Given the description of an element on the screen output the (x, y) to click on. 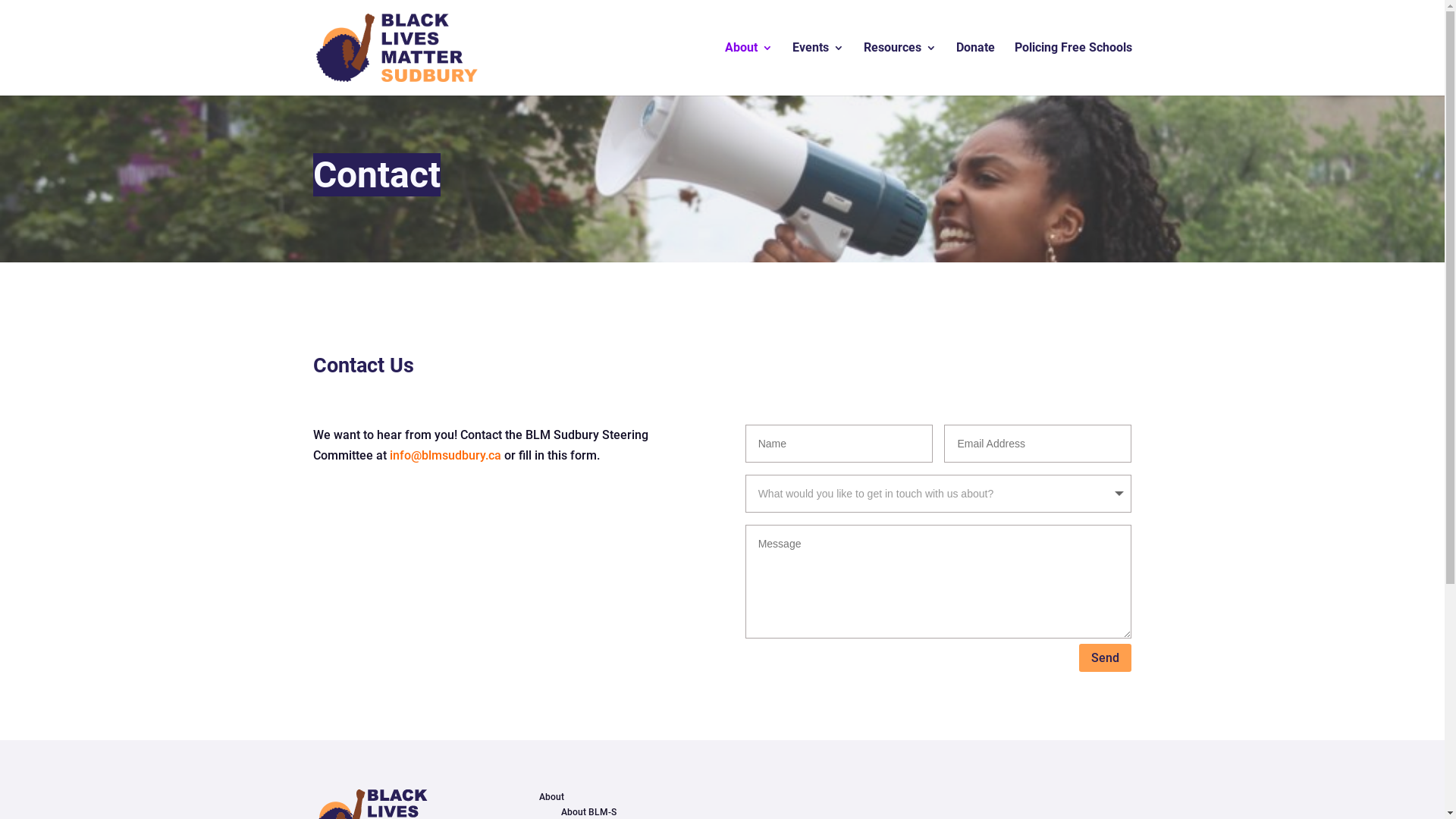
info@blmsudbury.ca Element type: text (445, 455)
Resources Element type: text (898, 68)
About Element type: text (551, 796)
Donate Element type: text (974, 68)
Policing Free Schools Element type: text (1073, 68)
About BLM-S Element type: text (588, 811)
Send Element type: text (1105, 657)
Events Element type: text (817, 68)
About Element type: text (748, 68)
